Given the description of an element on the screen output the (x, y) to click on. 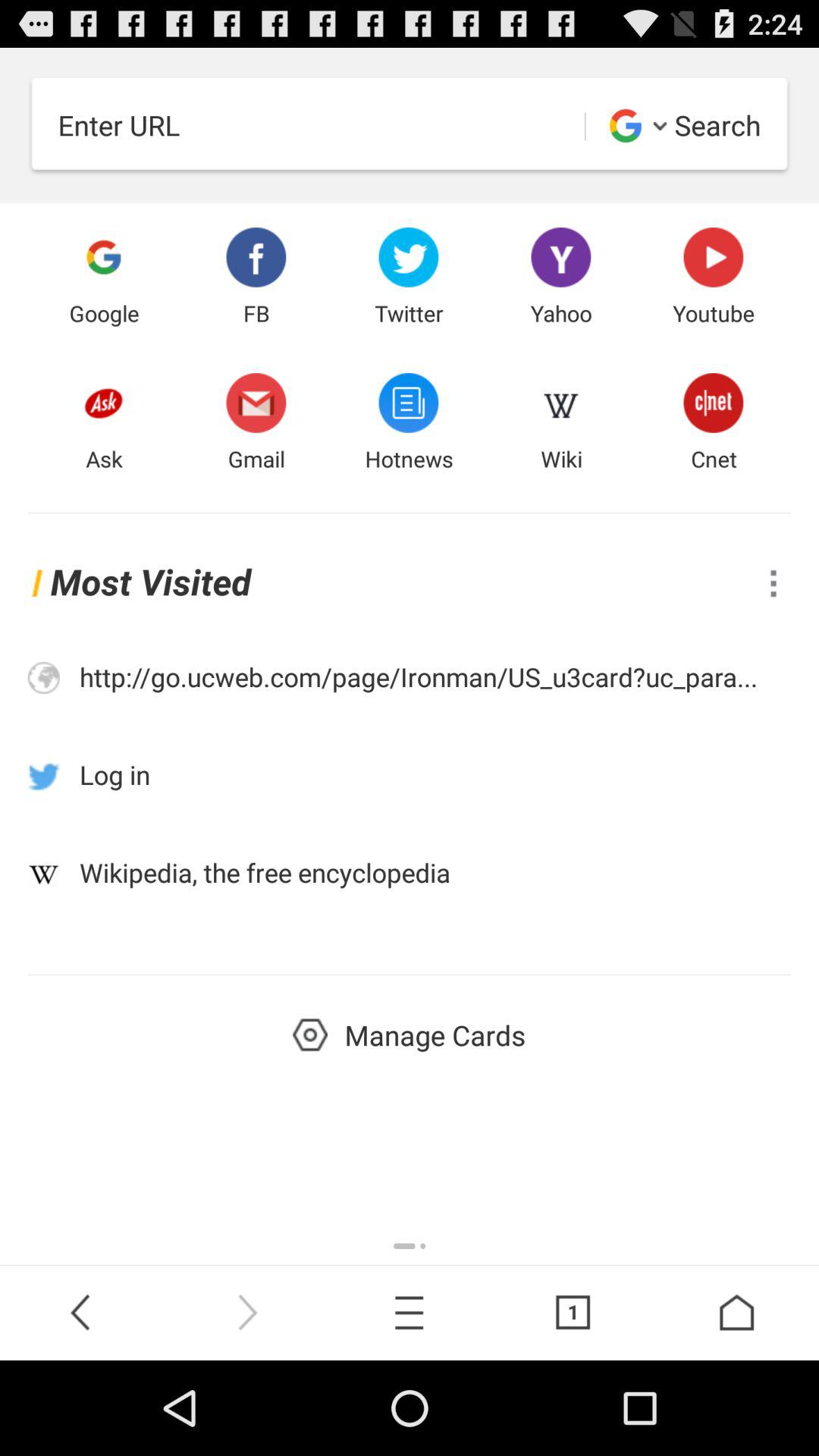
open menu (773, 583)
